Given the description of an element on the screen output the (x, y) to click on. 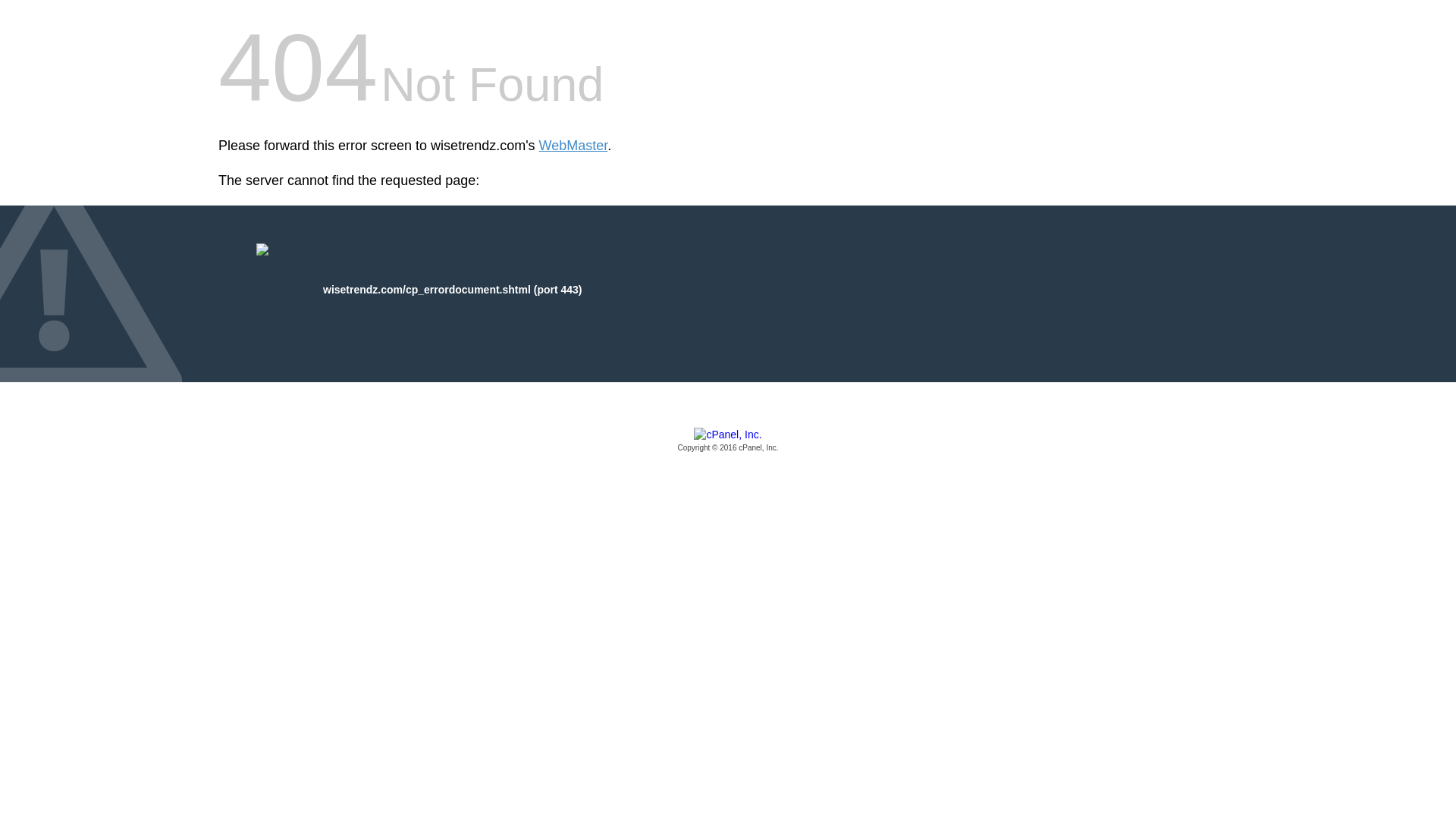
WebMaster (573, 145)
cPanel, Inc. (727, 440)
